Given the description of an element on the screen output the (x, y) to click on. 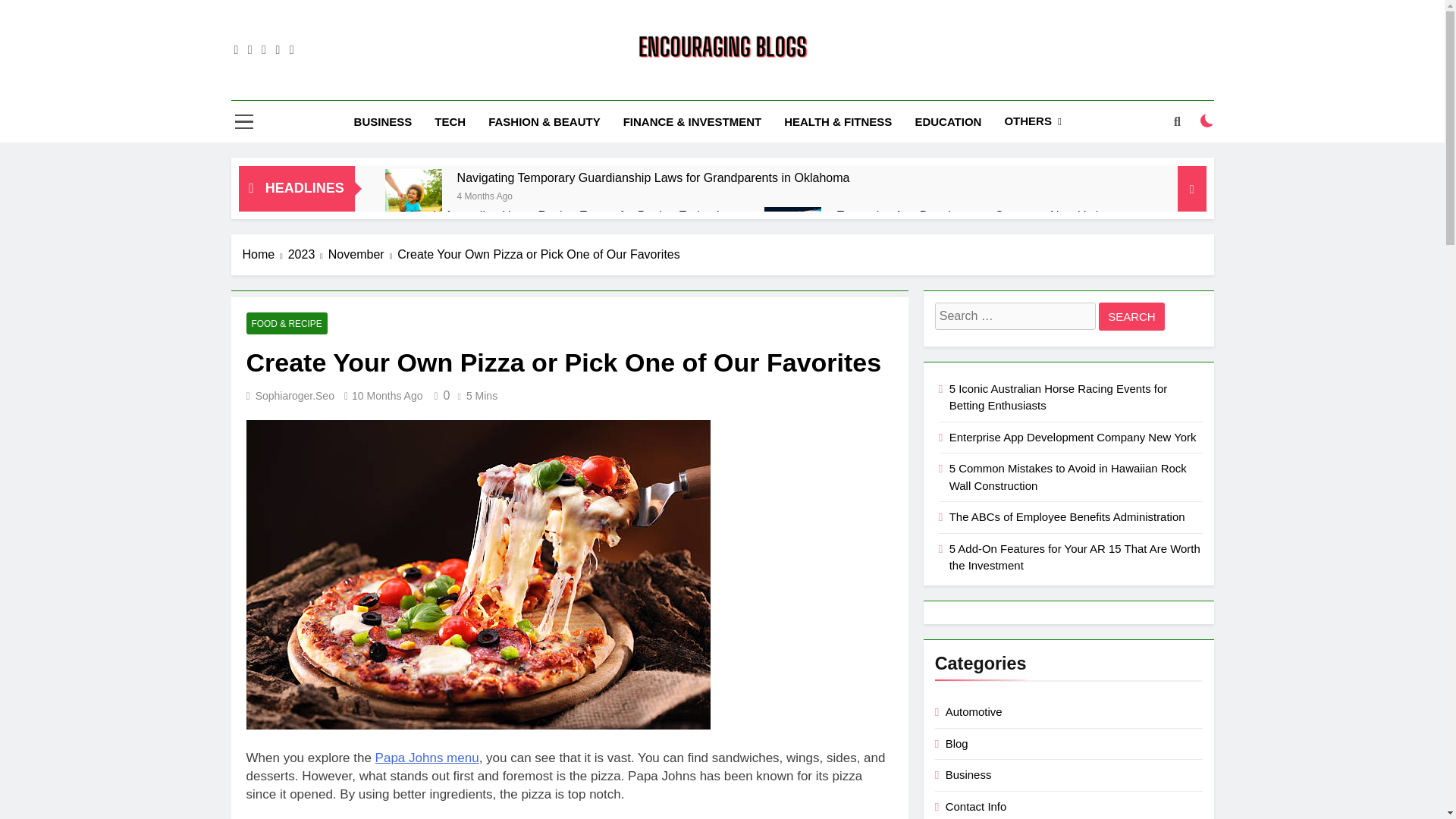
Search (1131, 316)
BUSINESS (382, 121)
Search (1131, 316)
on (1206, 120)
TECH (450, 121)
Encouraging Blogs (618, 86)
